Given the description of an element on the screen output the (x, y) to click on. 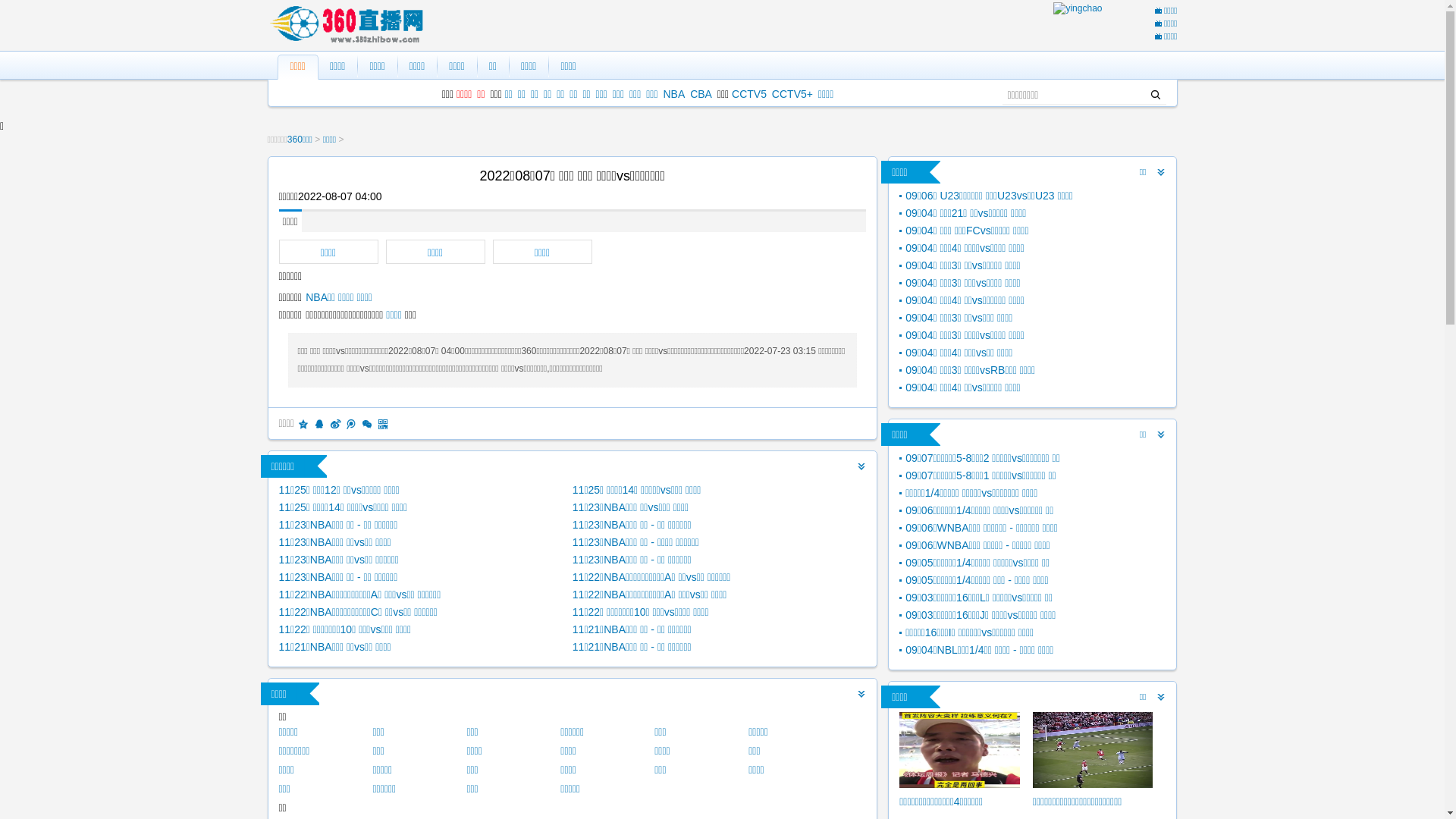
CCTV5 Element type: text (748, 93)
CBA Element type: text (701, 93)
CCTV5+ Element type: text (791, 93)
NBA Element type: text (673, 93)
